Given the description of an element on the screen output the (x, y) to click on. 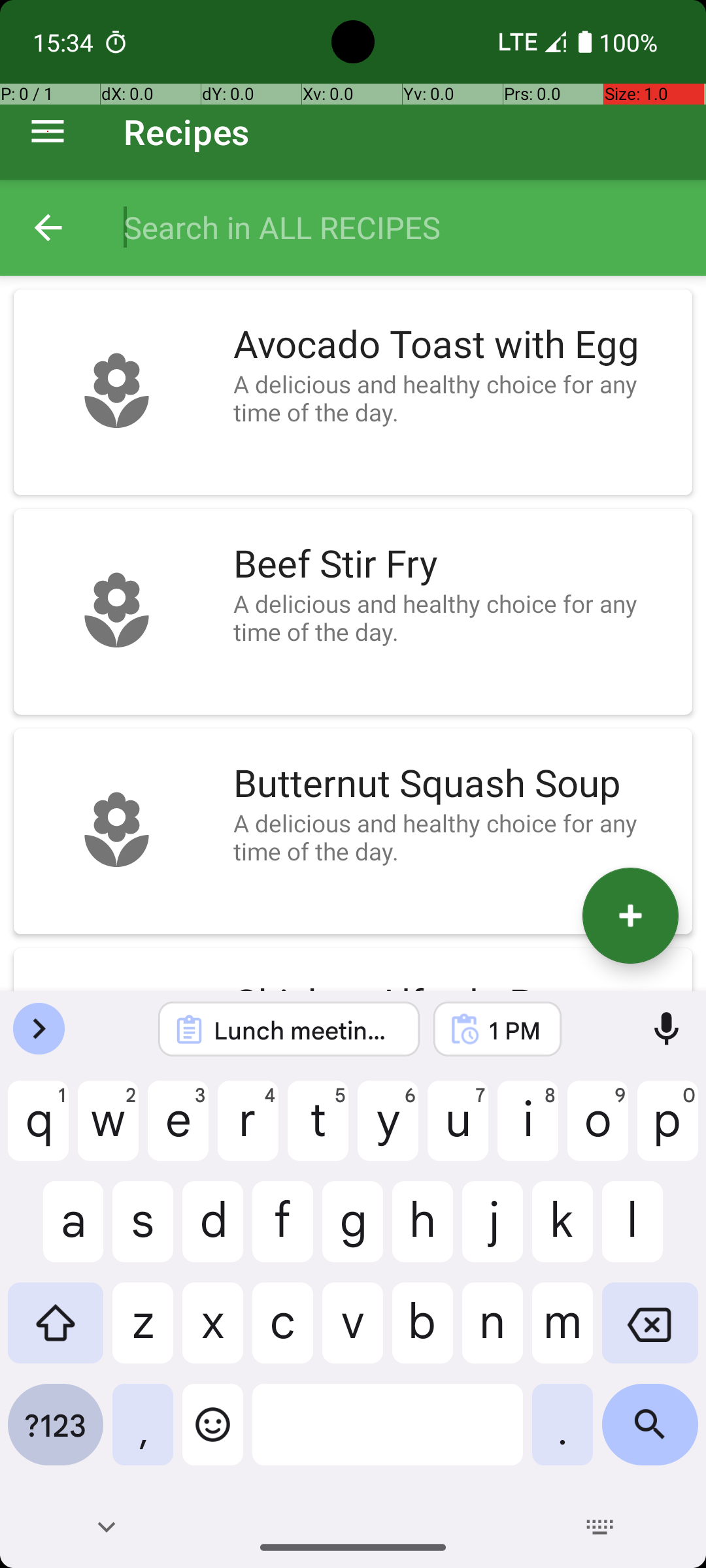
Search in ALL RECIPES Element type: android.widget.AutoCompleteTextView (400, 227)
Lunch meeting with Sarah at 1 PM Cafe L'amour. Element type: android.widget.TextView (305, 1029)
1 PM Element type: android.widget.TextView (514, 1029)
